Given the description of an element on the screen output the (x, y) to click on. 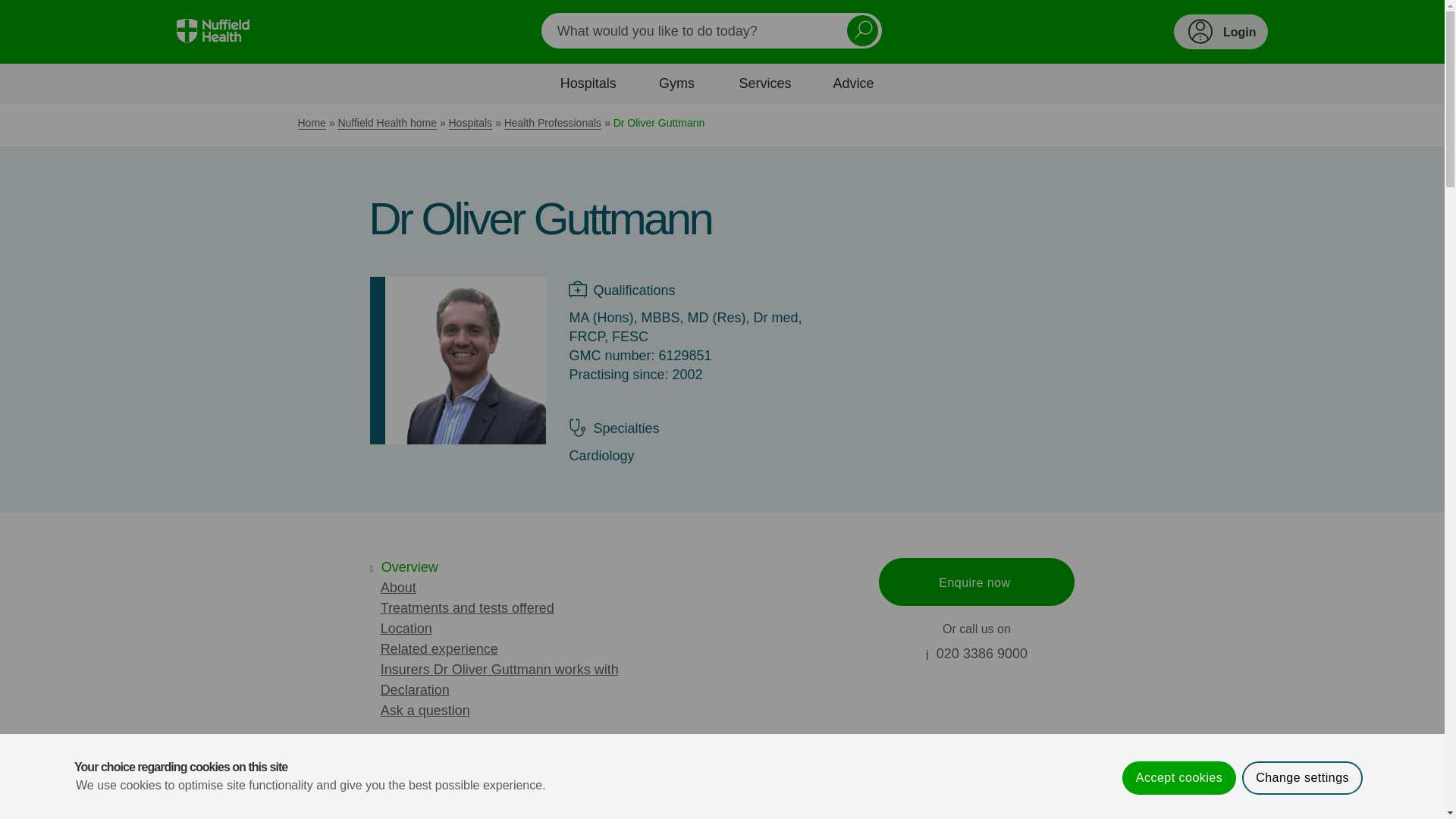
Gyms (676, 83)
Services (765, 83)
Hospitals (587, 83)
Change settings (1301, 815)
Advice (853, 83)
Login (1220, 31)
